Given the description of an element on the screen output the (x, y) to click on. 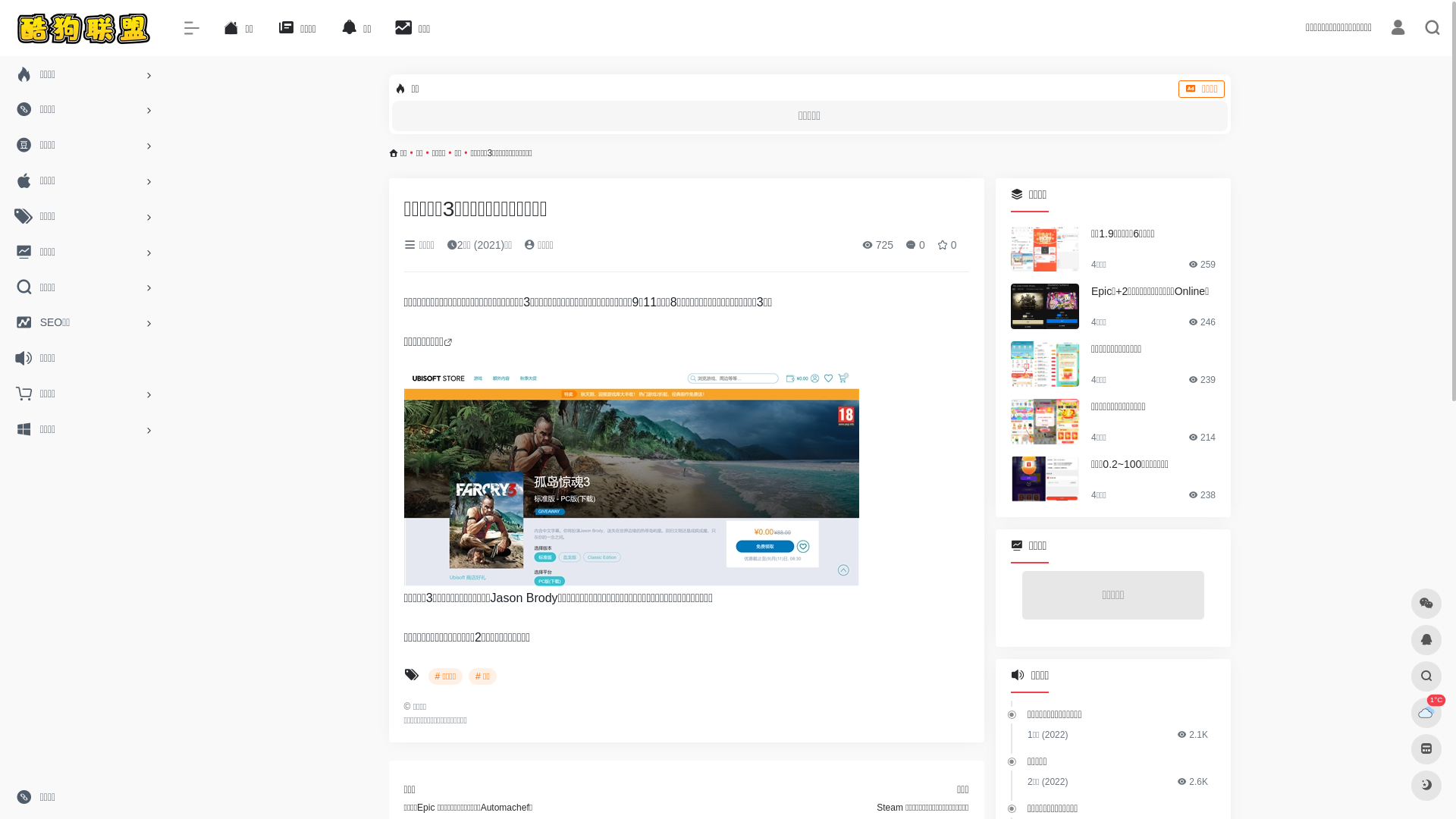
0 Element type: text (915, 244)
0 Element type: text (947, 244)
